Given the description of an element on the screen output the (x, y) to click on. 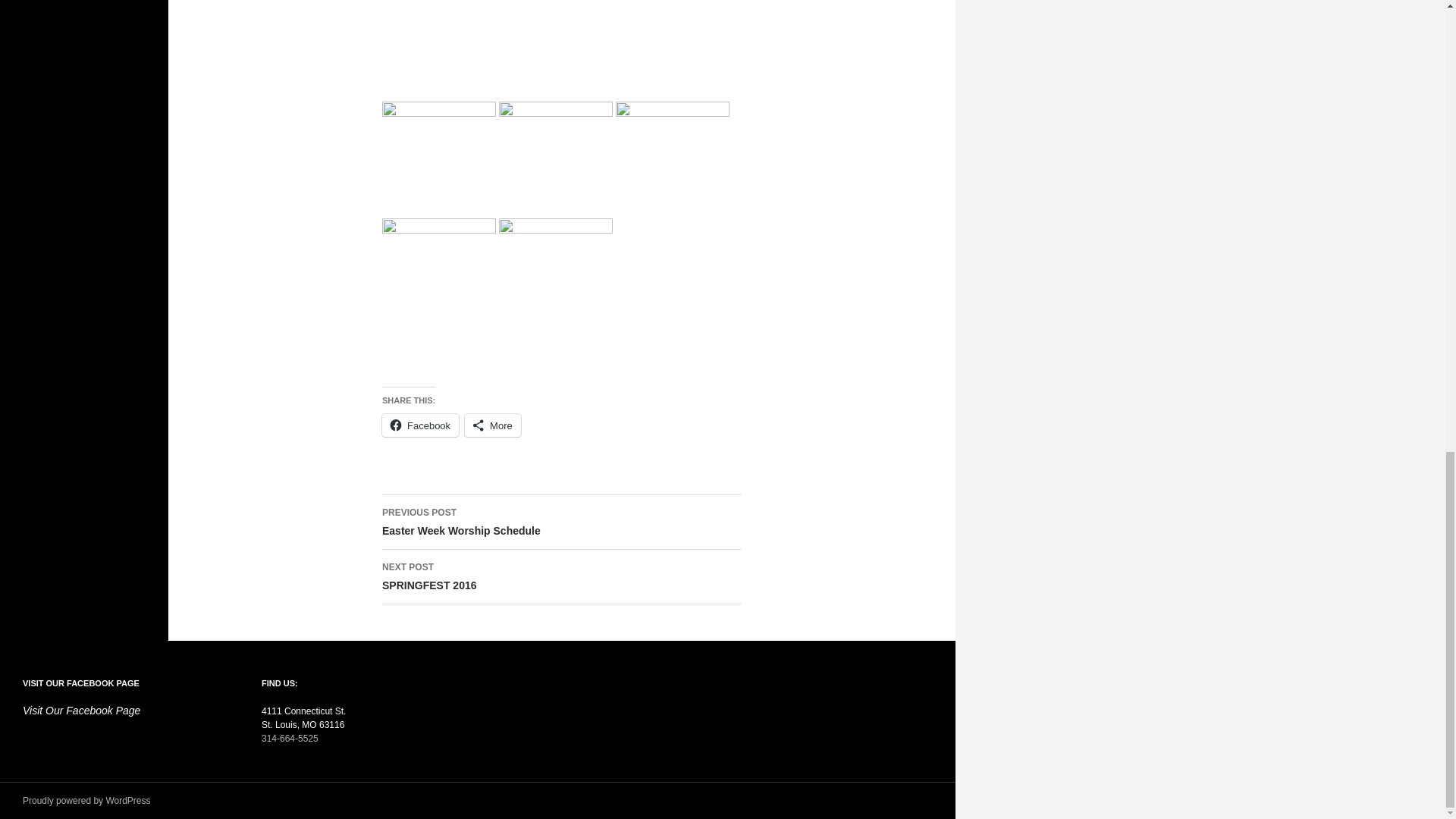
More (492, 425)
Click to share on Facebook (561, 522)
Facebook (419, 425)
